Given the description of an element on the screen output the (x, y) to click on. 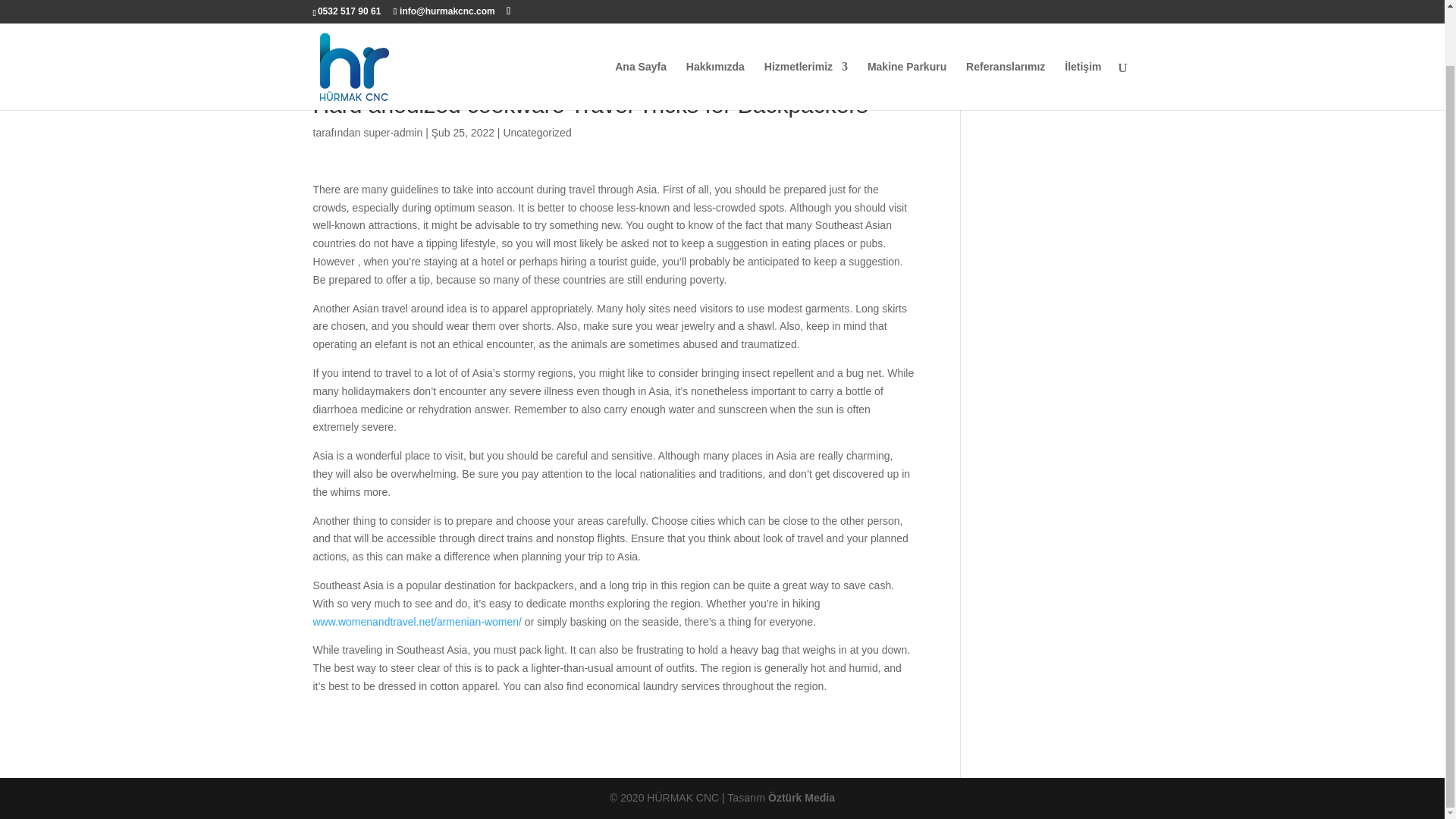
super-admin (392, 132)
Uncategorized (536, 132)
Hizmetlerimiz (805, 25)
Ana Sayfa (640, 25)
Makine Parkuru (906, 25)
